Given the description of an element on the screen output the (x, y) to click on. 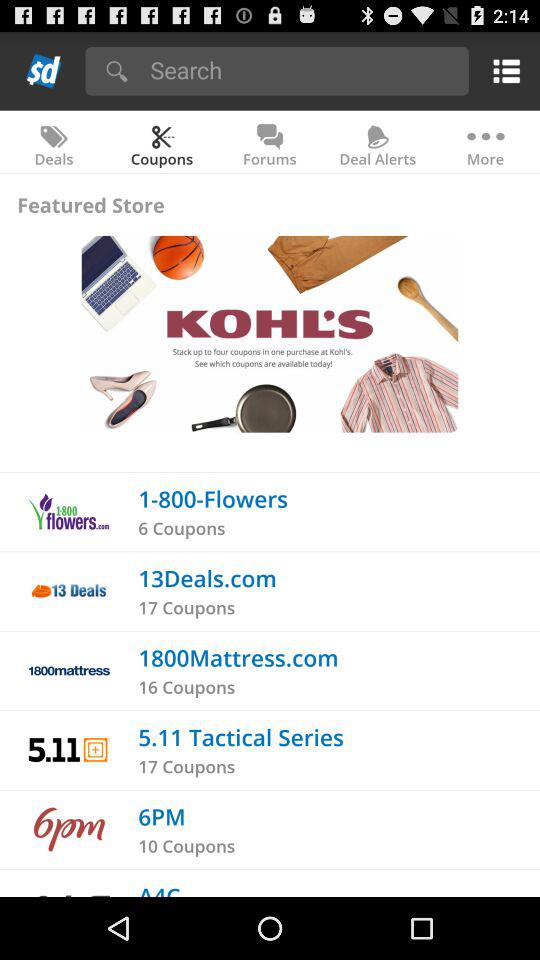
my search objective (302, 69)
